Given the description of an element on the screen output the (x, y) to click on. 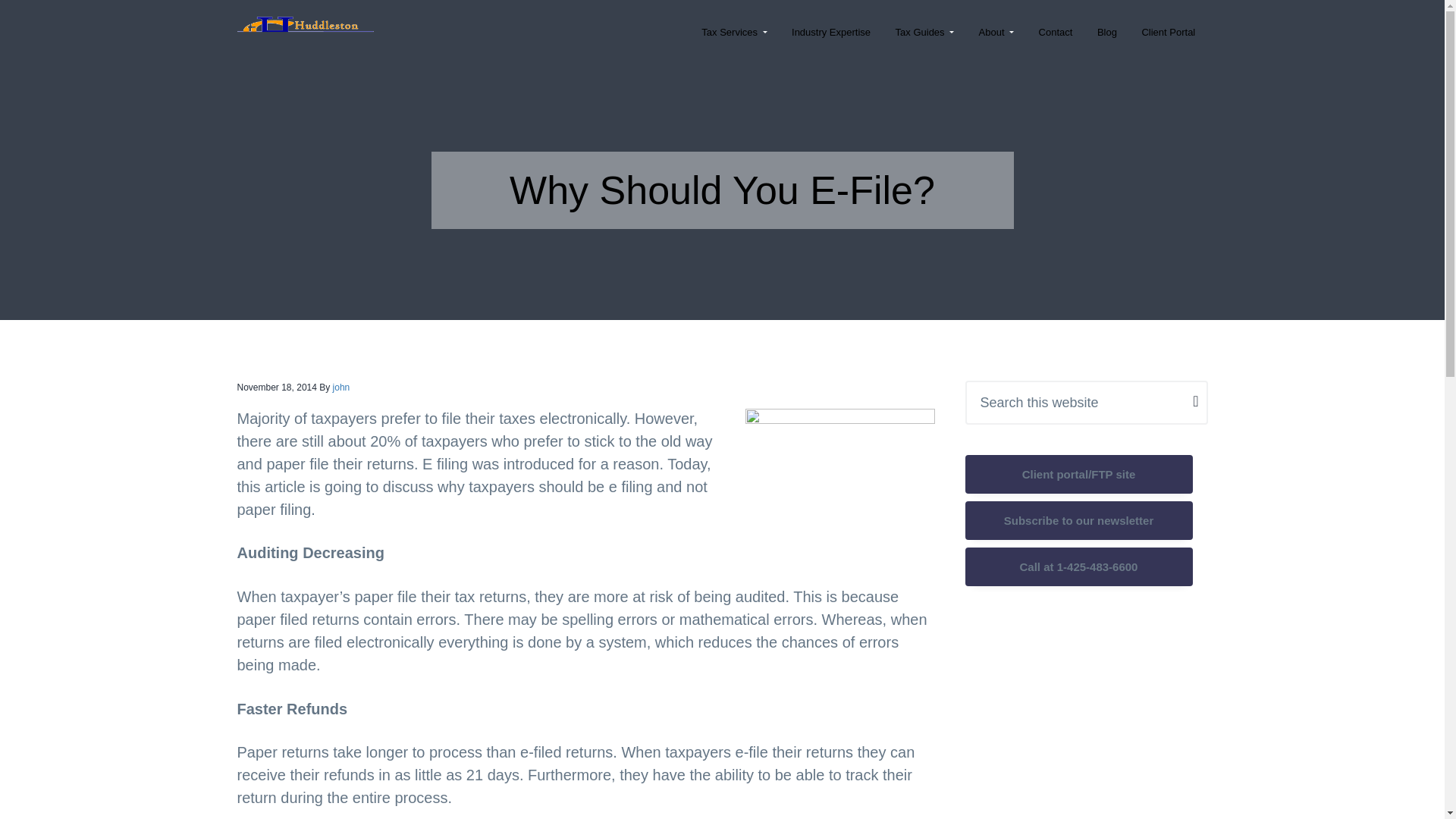
Subscribe to our newsletter (1077, 520)
john (341, 387)
Client Portal (1168, 31)
Contact (1055, 31)
Call at 1-425-483-6600 (1077, 566)
Call at 1-425-483-6600 (1077, 566)
Blog (1106, 31)
About (996, 31)
Tax Services (733, 31)
Subscribe to our newsletter (1077, 520)
Tax Guides (924, 31)
Search (43, 19)
Industry Expertise (830, 31)
